Given the description of an element on the screen output the (x, y) to click on. 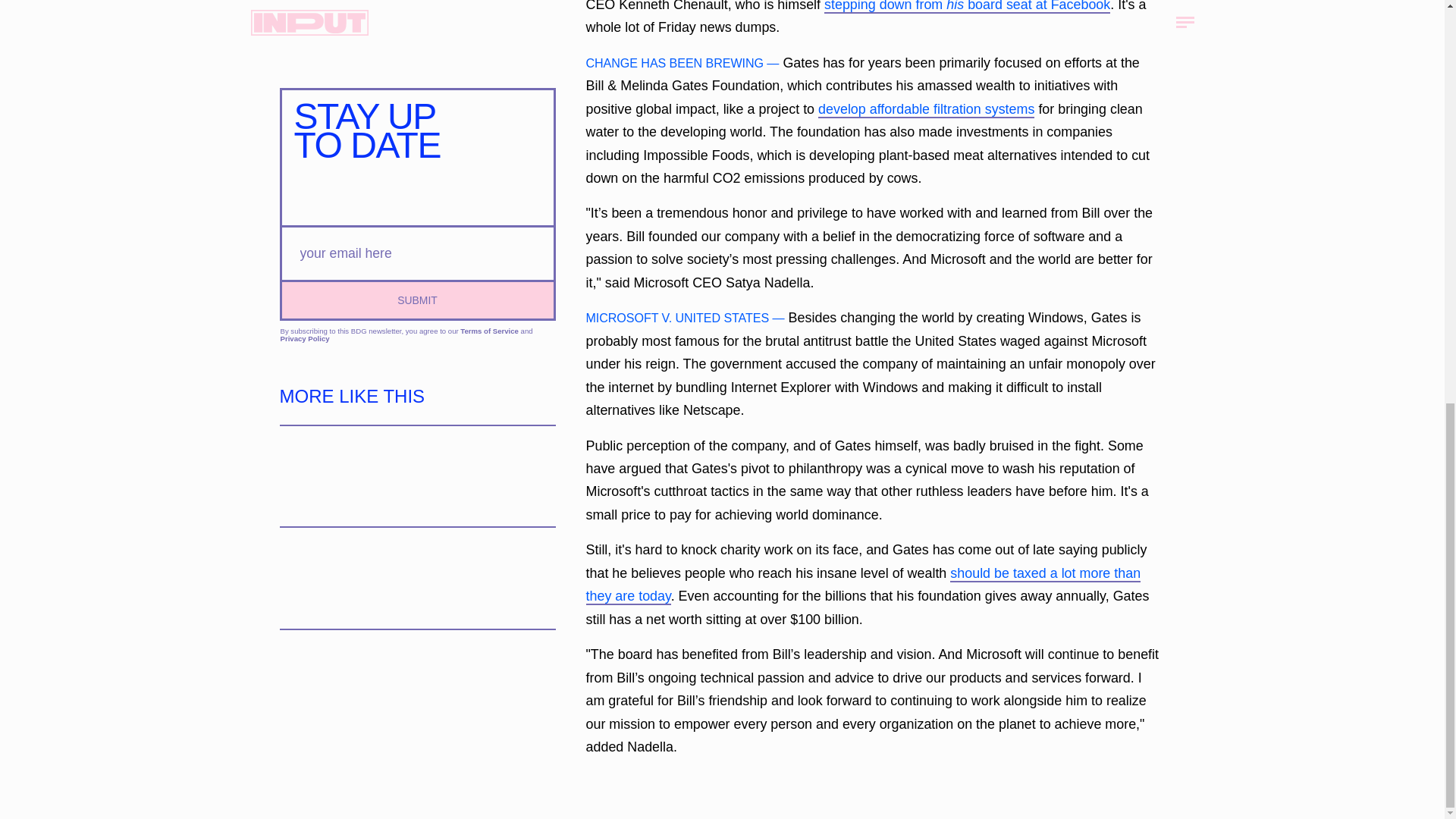
should be taxed a lot more than they are today (862, 585)
SUBMIT (417, 296)
Terms of Service (489, 329)
stepping down from his board seat at Facebook (966, 6)
Privacy Policy (305, 338)
develop affordable filtration systems (925, 109)
